Given the description of an element on the screen output the (x, y) to click on. 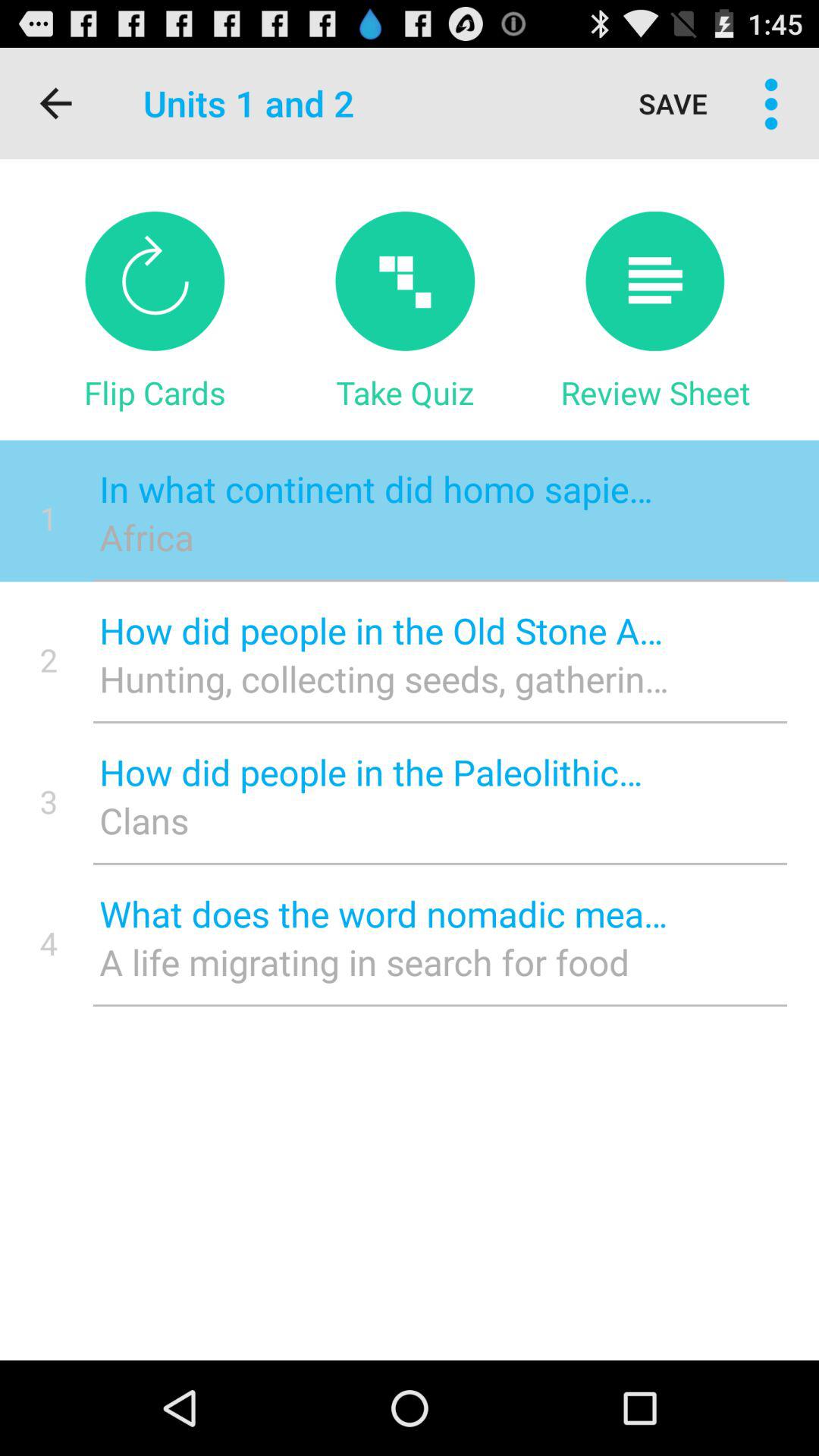
turn off item below the units 1 and icon (404, 280)
